Given the description of an element on the screen output the (x, y) to click on. 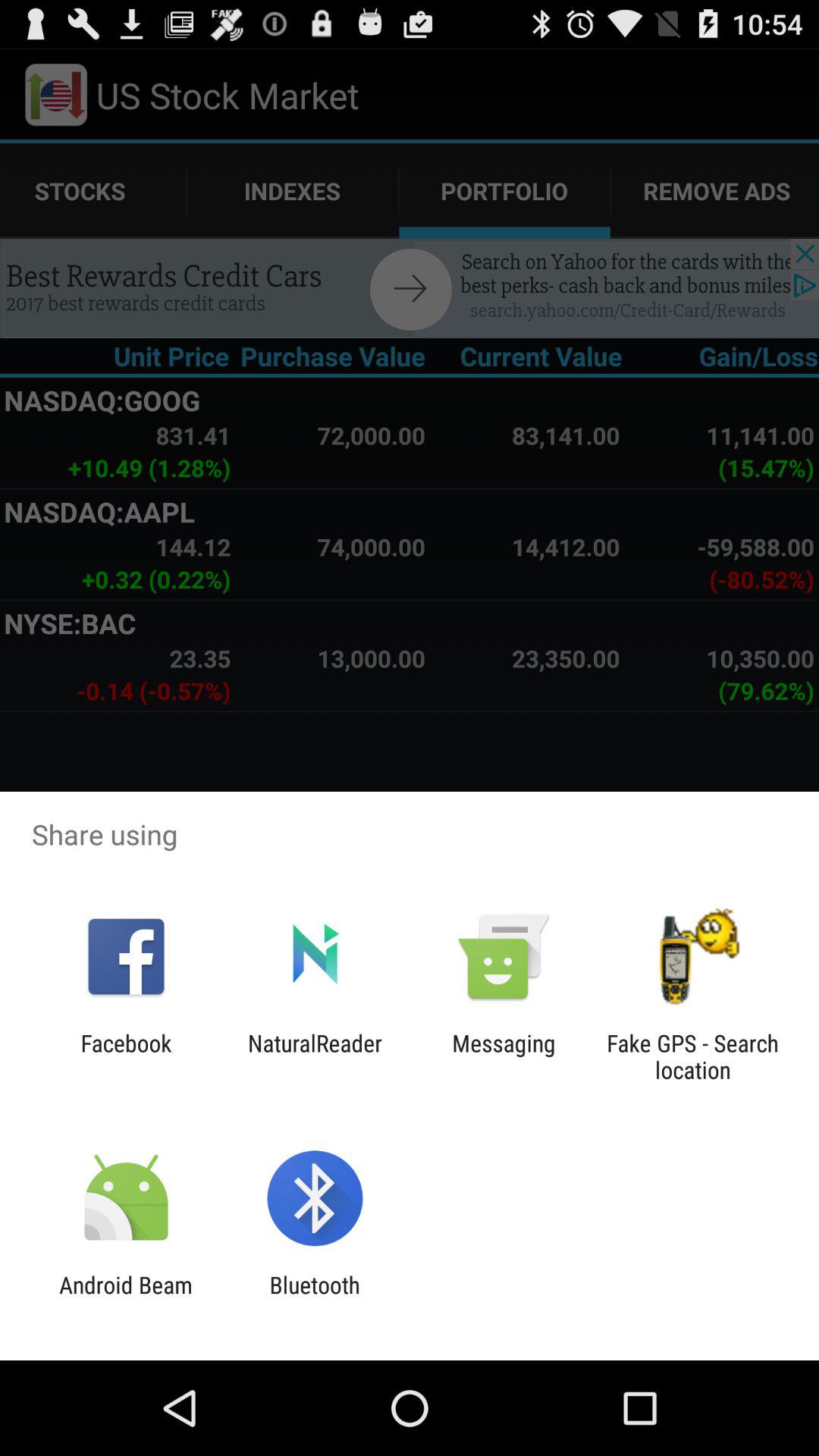
launch the item next to facebook icon (314, 1056)
